Given the description of an element on the screen output the (x, y) to click on. 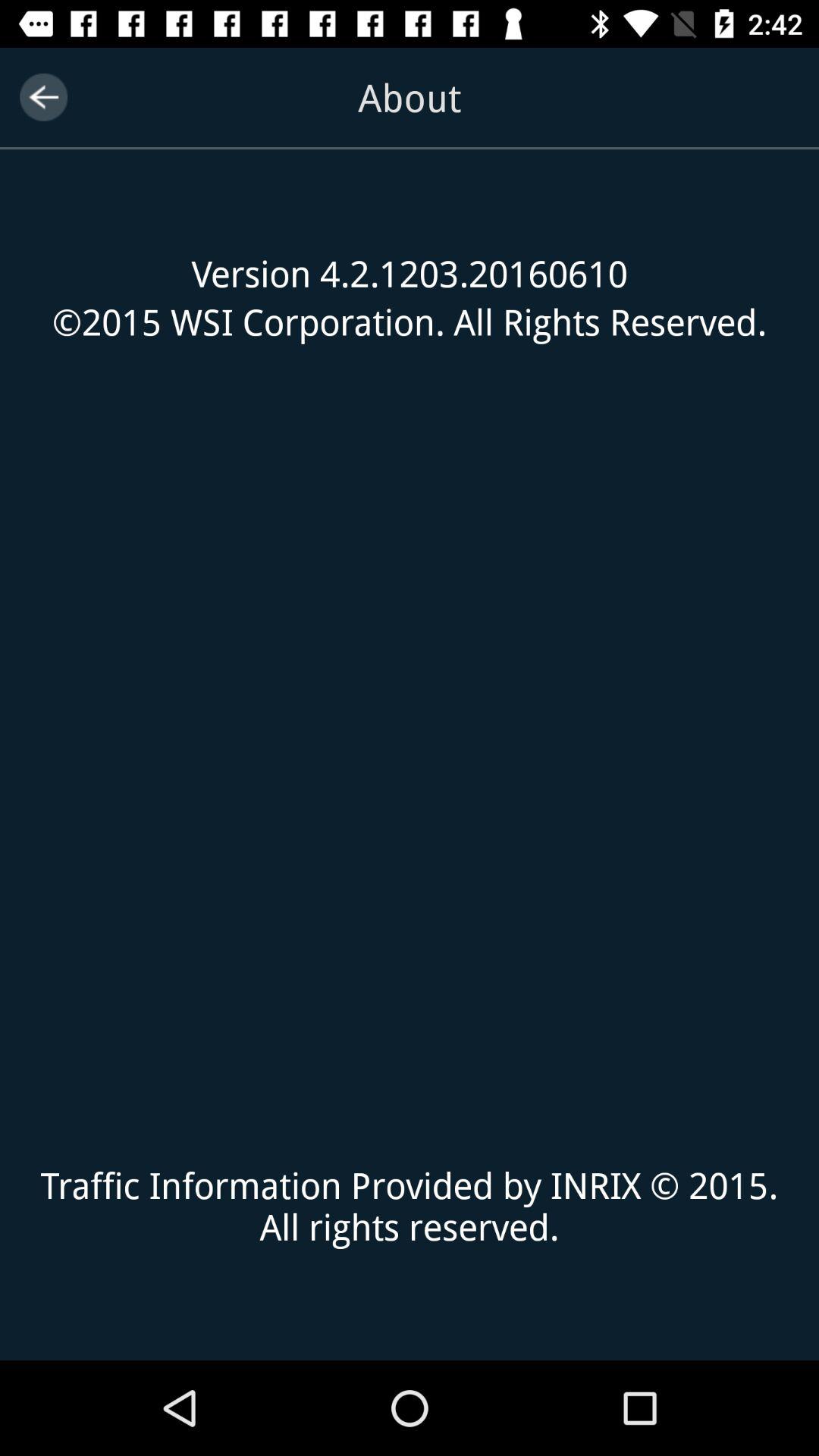
click on the left arrow button which is left side of about (43, 97)
